Given the description of an element on the screen output the (x, y) to click on. 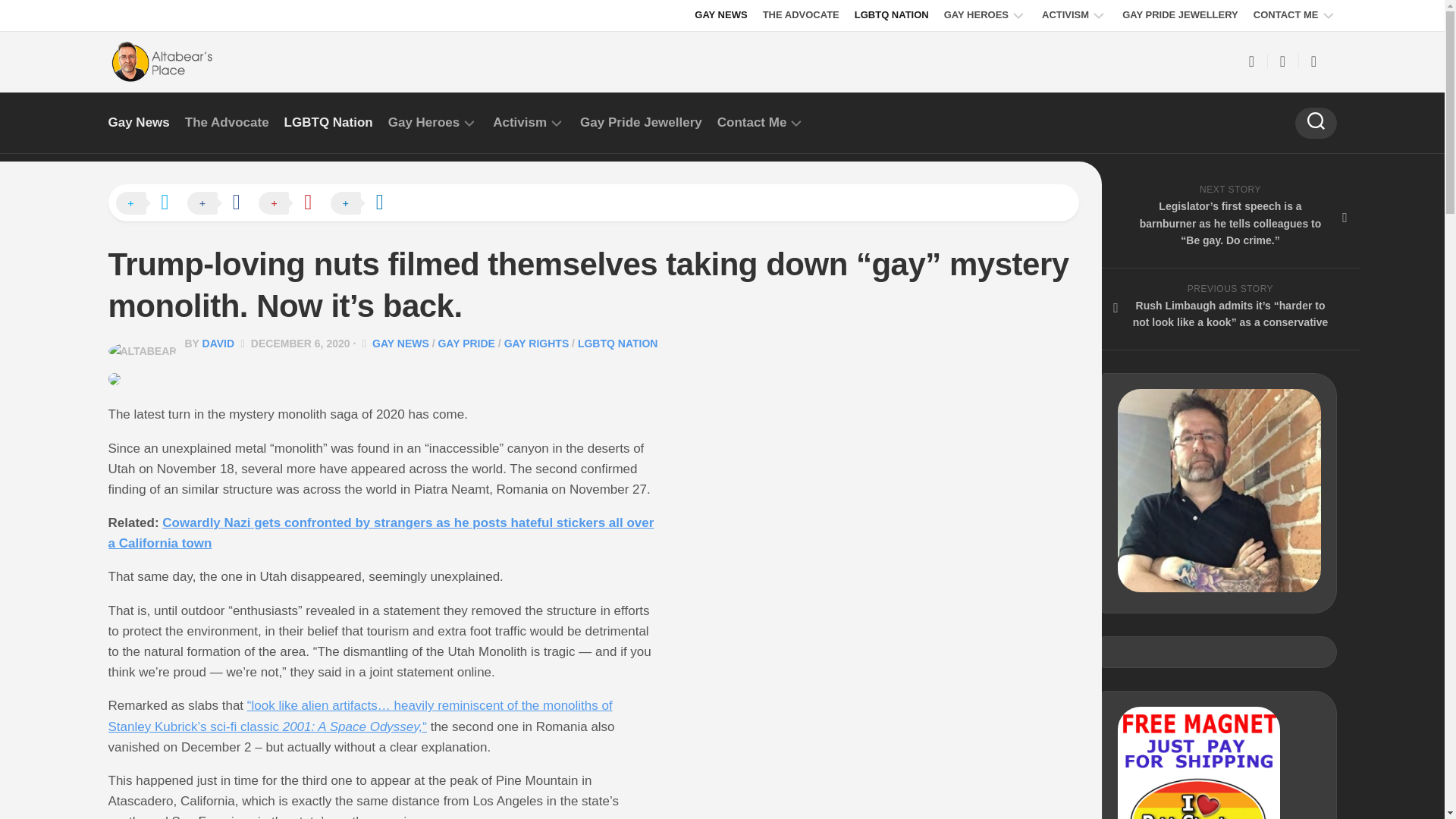
THE ADVOCATE (801, 14)
Posts by David (218, 343)
Facebook (1251, 61)
ACTIVISM (1065, 14)
LGBTQ NATION (891, 14)
Share on X (149, 203)
GAY PRIDE JEWELLERY (1180, 14)
Instagram (1313, 61)
Share on Facebook (221, 203)
CONTACT ME (1286, 14)
